Given the description of an element on the screen output the (x, y) to click on. 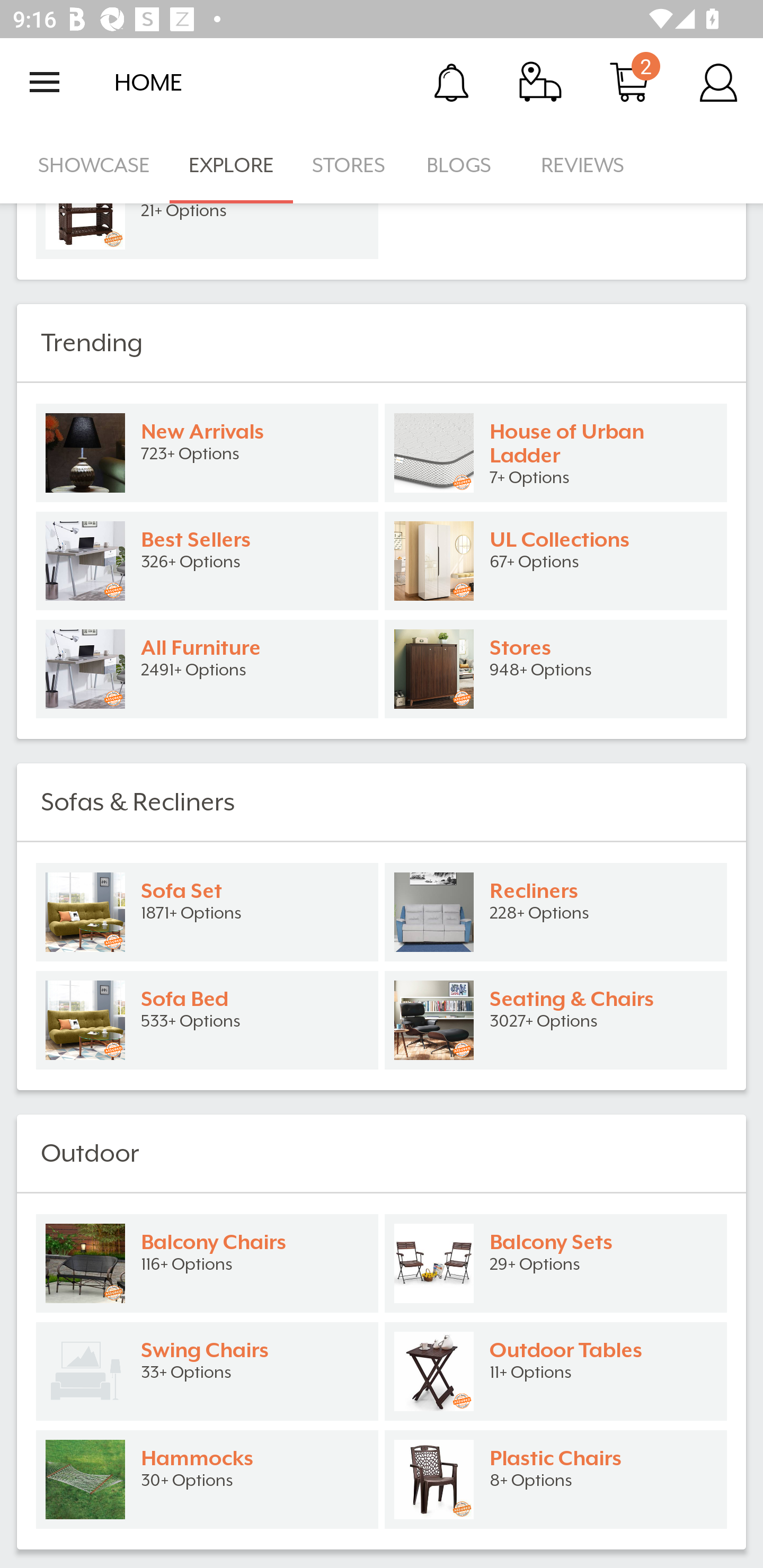
Open navigation drawer (44, 82)
Notification (450, 81)
Track Order (540, 81)
Cart (629, 81)
Account Details (718, 81)
SHOWCASE (94, 165)
EXPLORE (230, 165)
STORES (349, 165)
BLOGS (464, 165)
REVIEWS (582, 165)
New Arrivals 723+ Options (206, 452)
House of Urban Ladder 7+ Options (555, 452)
Best Sellers 326+ Options (206, 560)
UL Collections 67+ Options (555, 560)
All Furniture 2491+ Options (206, 668)
Stores 948+ Options (555, 668)
Sofa Set 1871+ Options (206, 911)
Recliners 228+ Options (555, 911)
Sofa Bed 533+ Options (206, 1019)
Seating & Chairs 3027+ Options (555, 1019)
Balcony Chairs 116+ Options (206, 1262)
Balcony Sets 29+ Options (555, 1262)
Swing Chairs 33+ Options (206, 1371)
Outdoor Tables 11+ Options (555, 1371)
Hammocks 30+ Options (206, 1479)
Plastic Chairs 8+ Options (555, 1479)
